Given the description of an element on the screen output the (x, y) to click on. 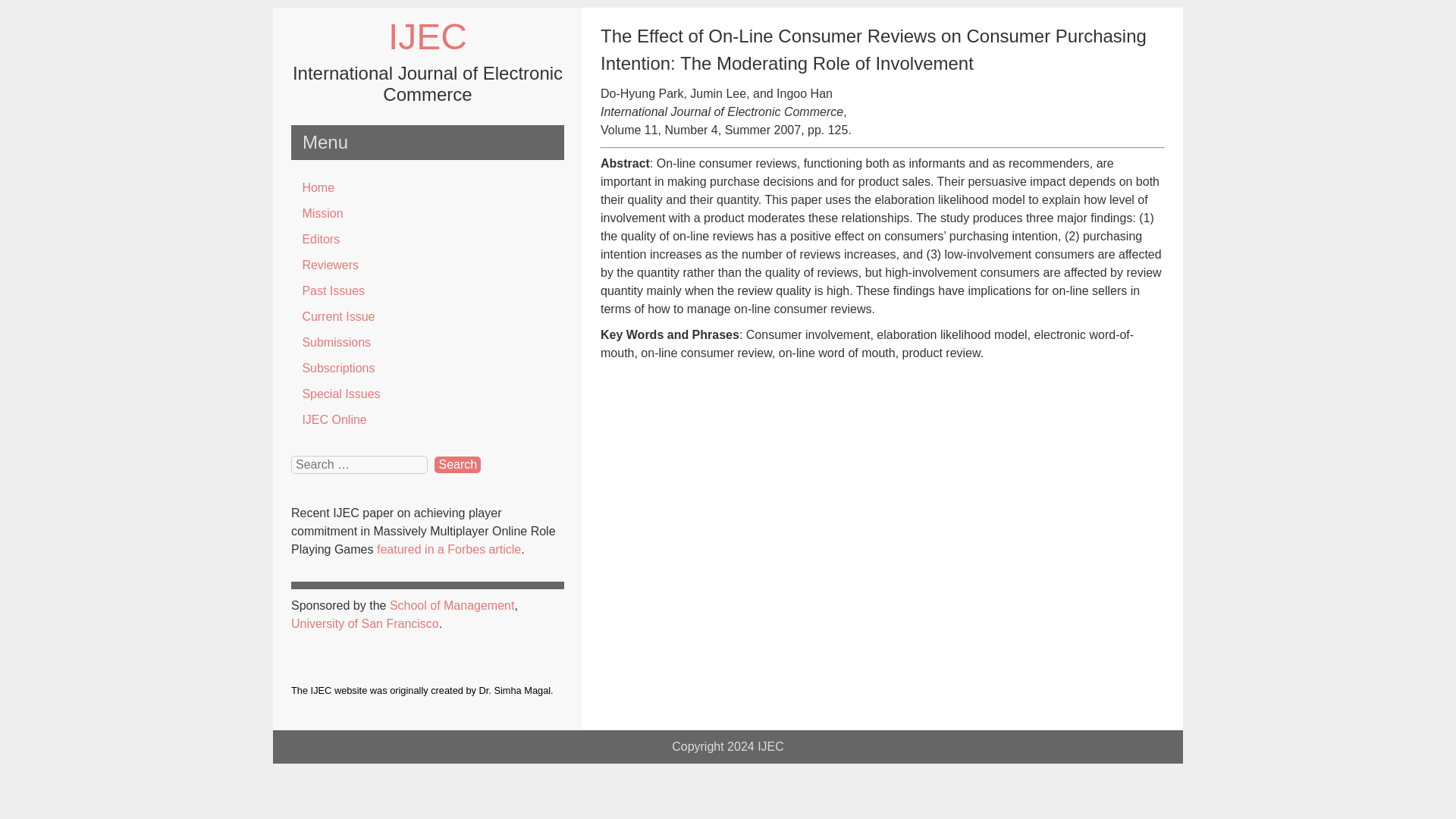
Subscriptions (427, 368)
Mission (427, 213)
featured in a Forbes article (449, 549)
Past Issues (427, 290)
School of Management (452, 604)
Search (456, 464)
IJEC (427, 36)
IJEC Online (427, 420)
Current Issue (427, 316)
IJEC (770, 746)
Home (427, 187)
Editors (427, 239)
IJEC (427, 36)
University of San Francisco (365, 623)
IJEC (770, 746)
